Given the description of an element on the screen output the (x, y) to click on. 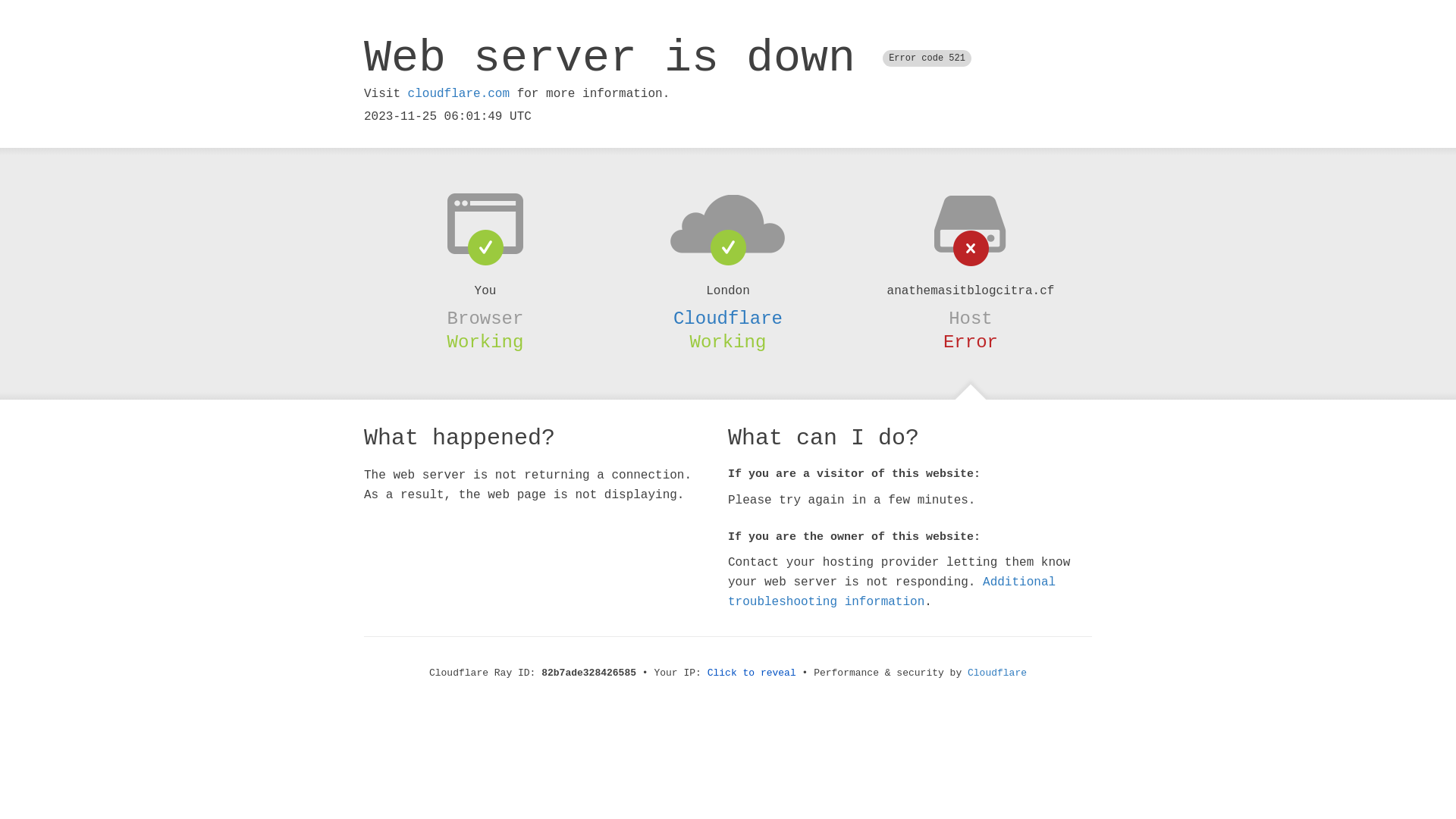
cloudflare.com Element type: text (458, 93)
Additional troubleshooting information Element type: text (891, 591)
Cloudflare Element type: text (727, 318)
Click to reveal Element type: text (751, 672)
Cloudflare Element type: text (996, 672)
